Given the description of an element on the screen output the (x, y) to click on. 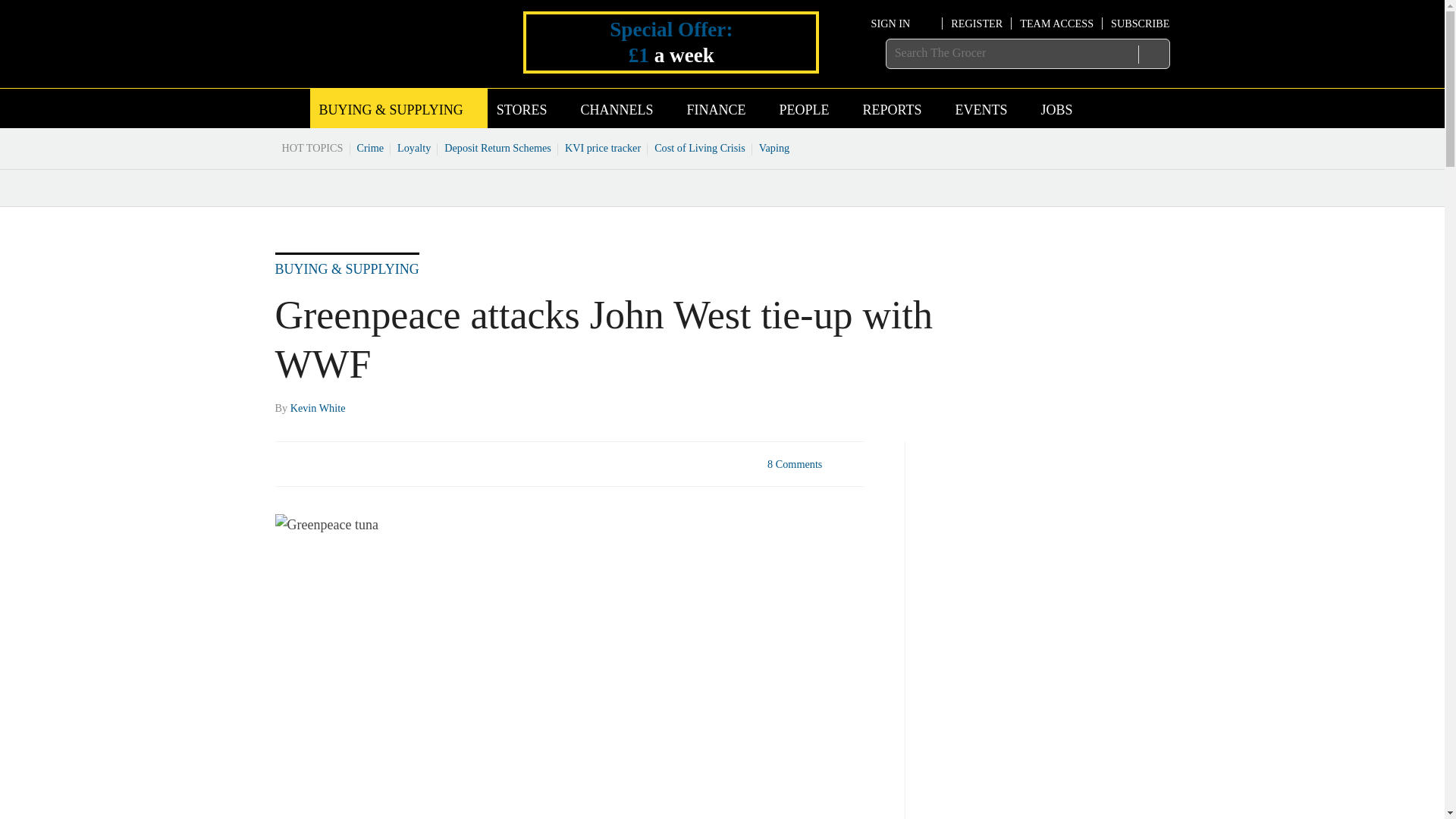
Share this on Linked in (352, 462)
Deposit Return Schemes (497, 147)
Loyalty (414, 147)
Cost of Living Crisis (699, 147)
Vaping (774, 147)
Share this on Twitter (320, 462)
TEAM ACCESS (1056, 23)
8 Comments (813, 472)
KVI price tracker (602, 147)
SIGN IN (902, 23)
Share this on Facebook (288, 462)
REGISTER (976, 23)
Email this article (386, 462)
Crime (370, 147)
SEARCH (1153, 53)
